Given the description of an element on the screen output the (x, y) to click on. 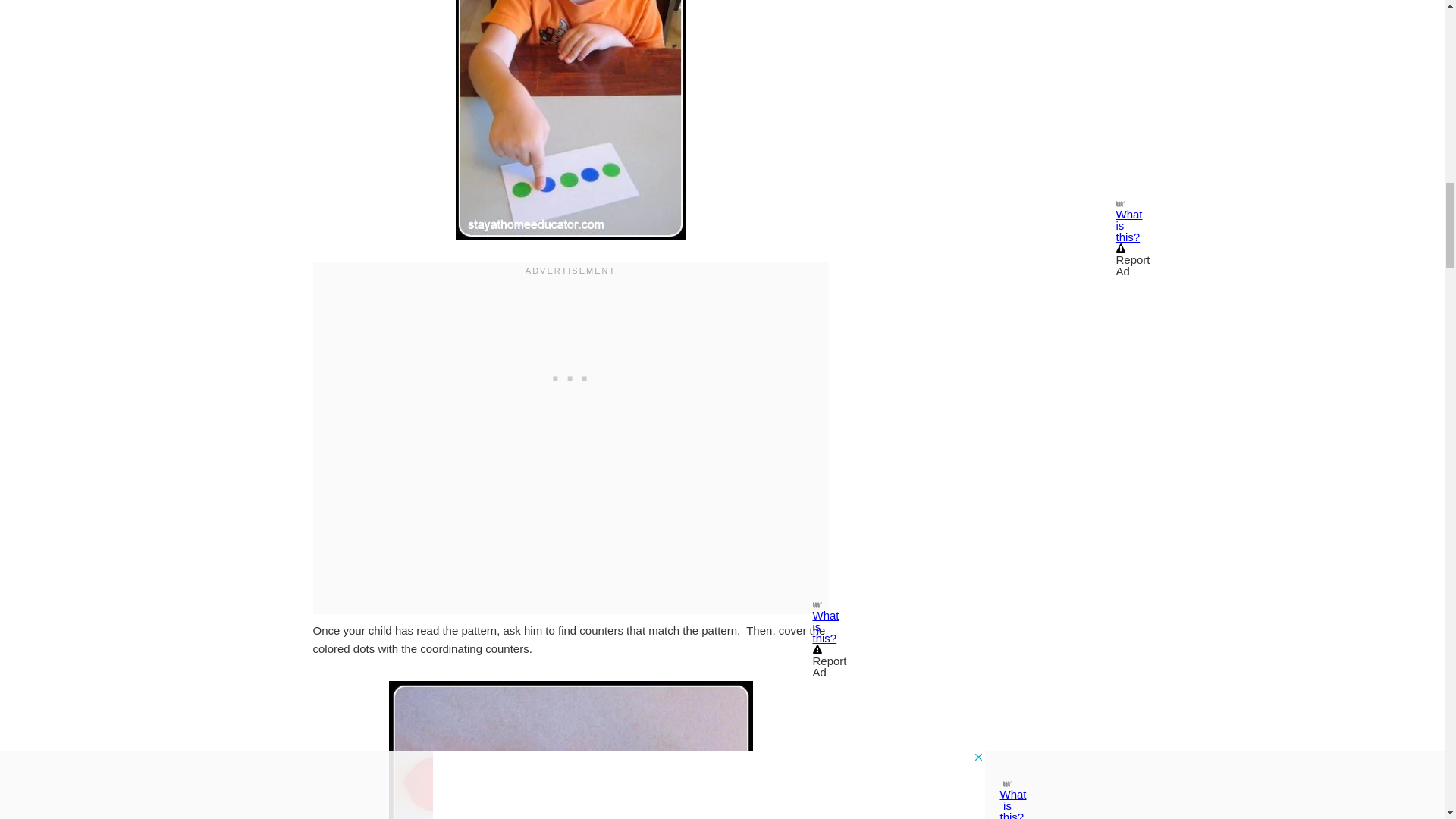
Pattern Cards (570, 749)
3rd party ad content (1017, 40)
3rd party ad content (570, 375)
Pattern Cards.2 (570, 119)
